Given the description of an element on the screen output the (x, y) to click on. 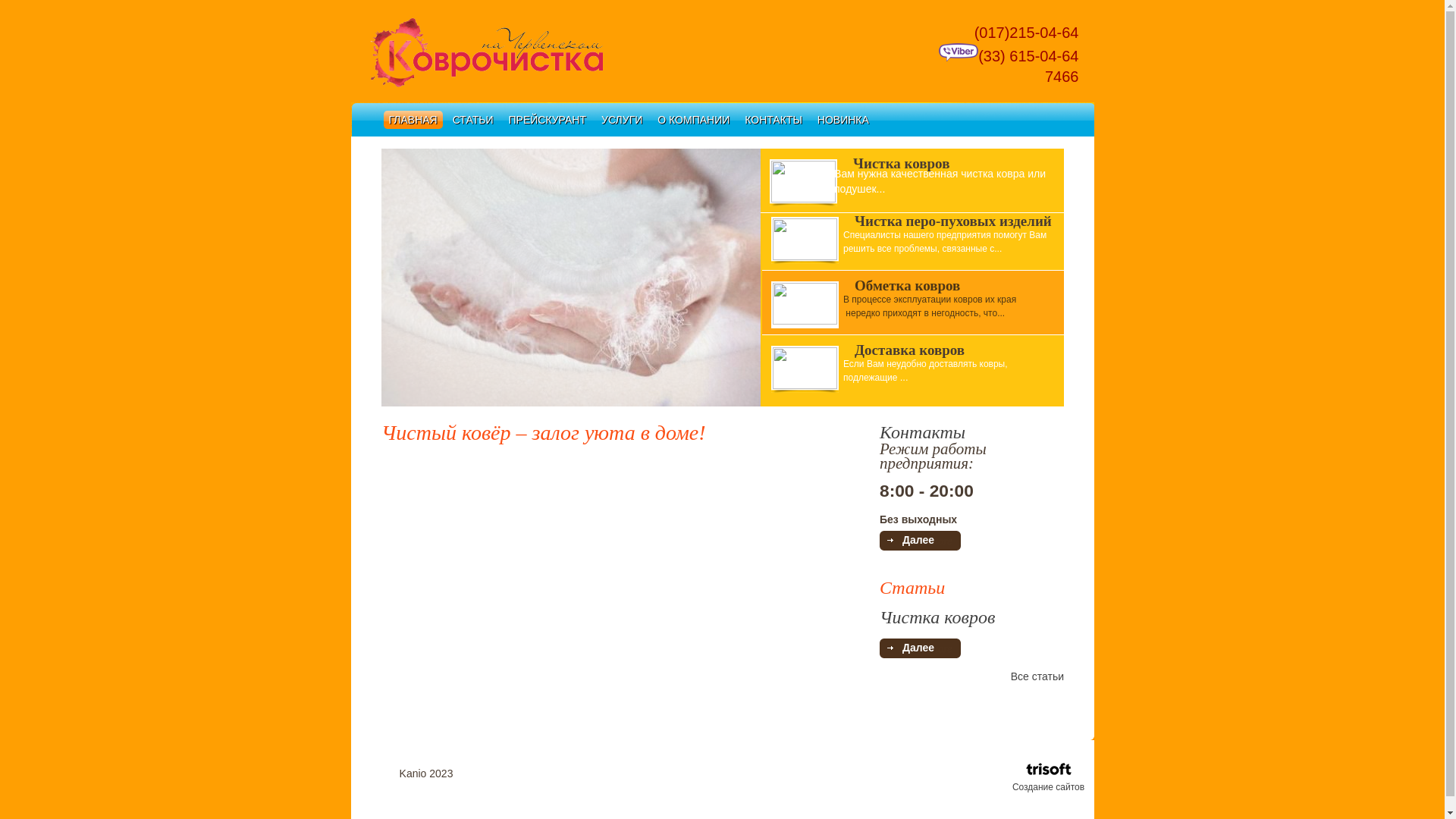
7466 Element type: text (1047, 76)
(017)215-04-64 Element type: text (1020, 32)
Next Element type: text (748, 278)
(33) 615-04-64 Element type: text (1008, 55)
Previous Element type: text (392, 278)
